Given the description of an element on the screen output the (x, y) to click on. 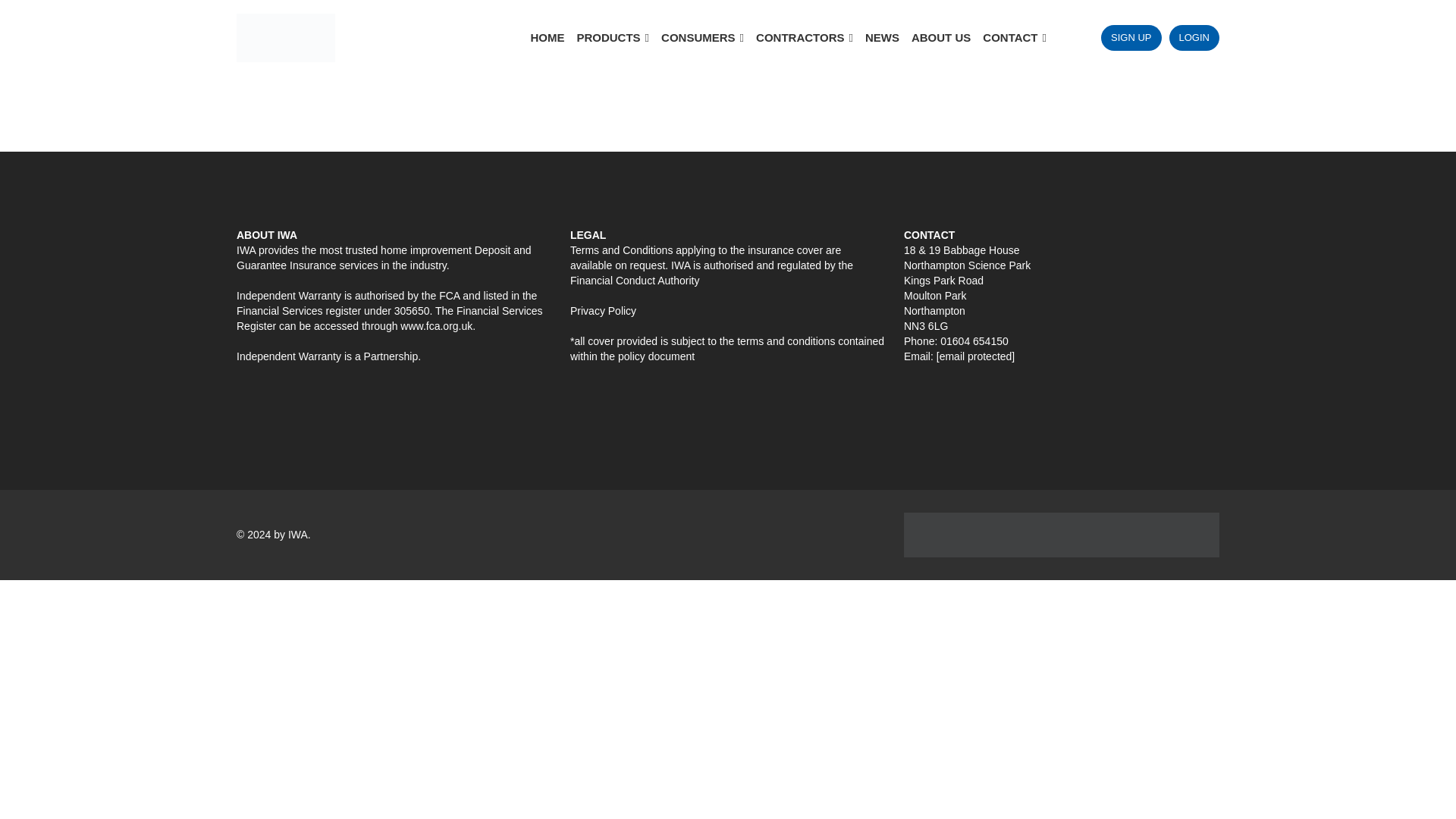
SIGN UP (1130, 37)
CONTRACTORS (804, 38)
PRODUCTS (612, 38)
ABOUT US (940, 38)
www.fca.org.uk (435, 326)
CONTACT (1014, 38)
CONSUMERS (702, 38)
NEWS (882, 38)
Privacy Policy (603, 310)
LOGIN (1194, 37)
HOME (547, 38)
